Given the description of an element on the screen output the (x, y) to click on. 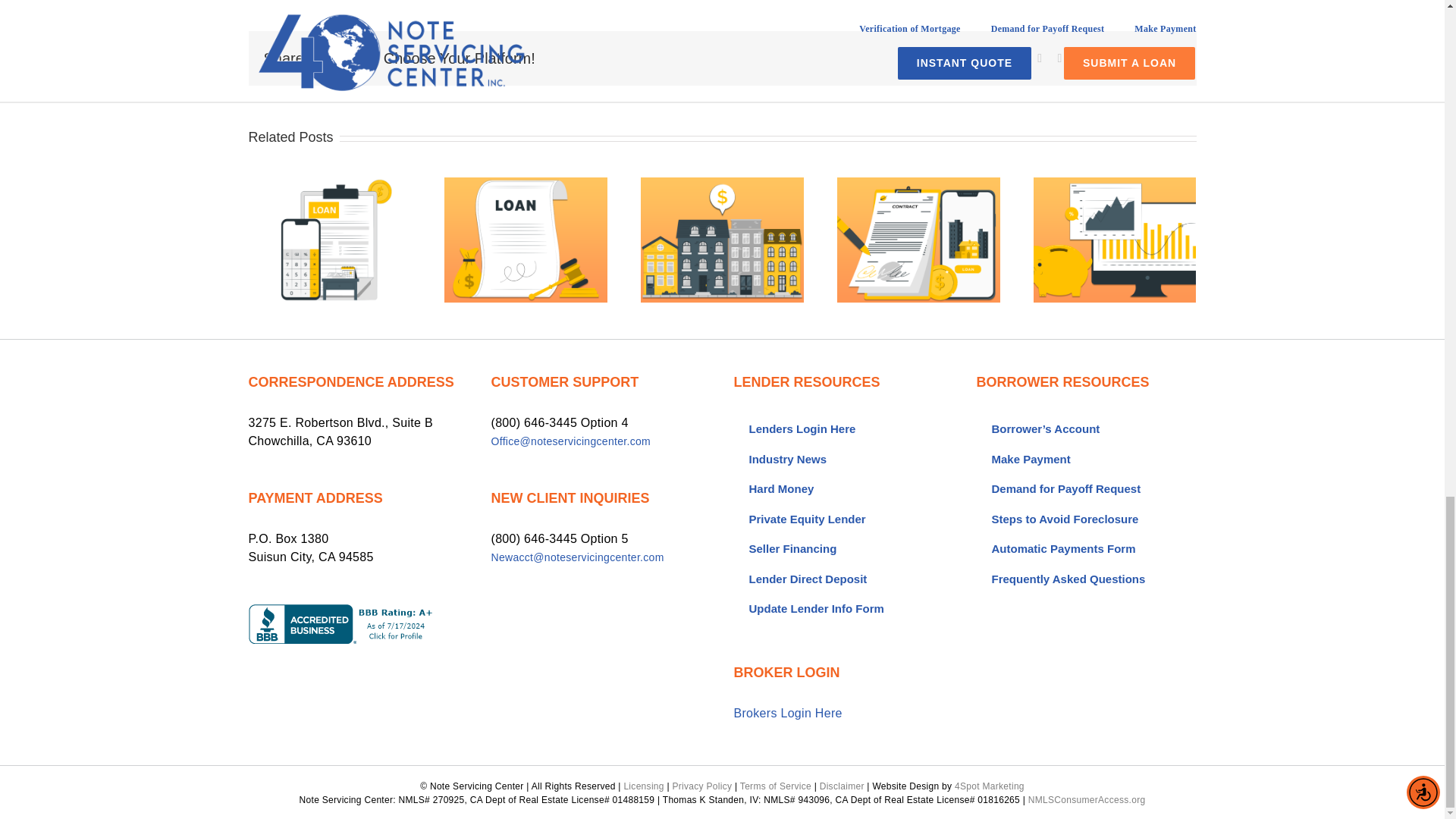
Tumblr (1118, 58)
Facebook (1019, 58)
Reddit (1059, 58)
WhatsApp (1099, 58)
Email (1178, 58)
LinkedIn (1079, 58)
X (1039, 58)
Vk (1158, 58)
Pinterest (1139, 58)
